Given the description of an element on the screen output the (x, y) to click on. 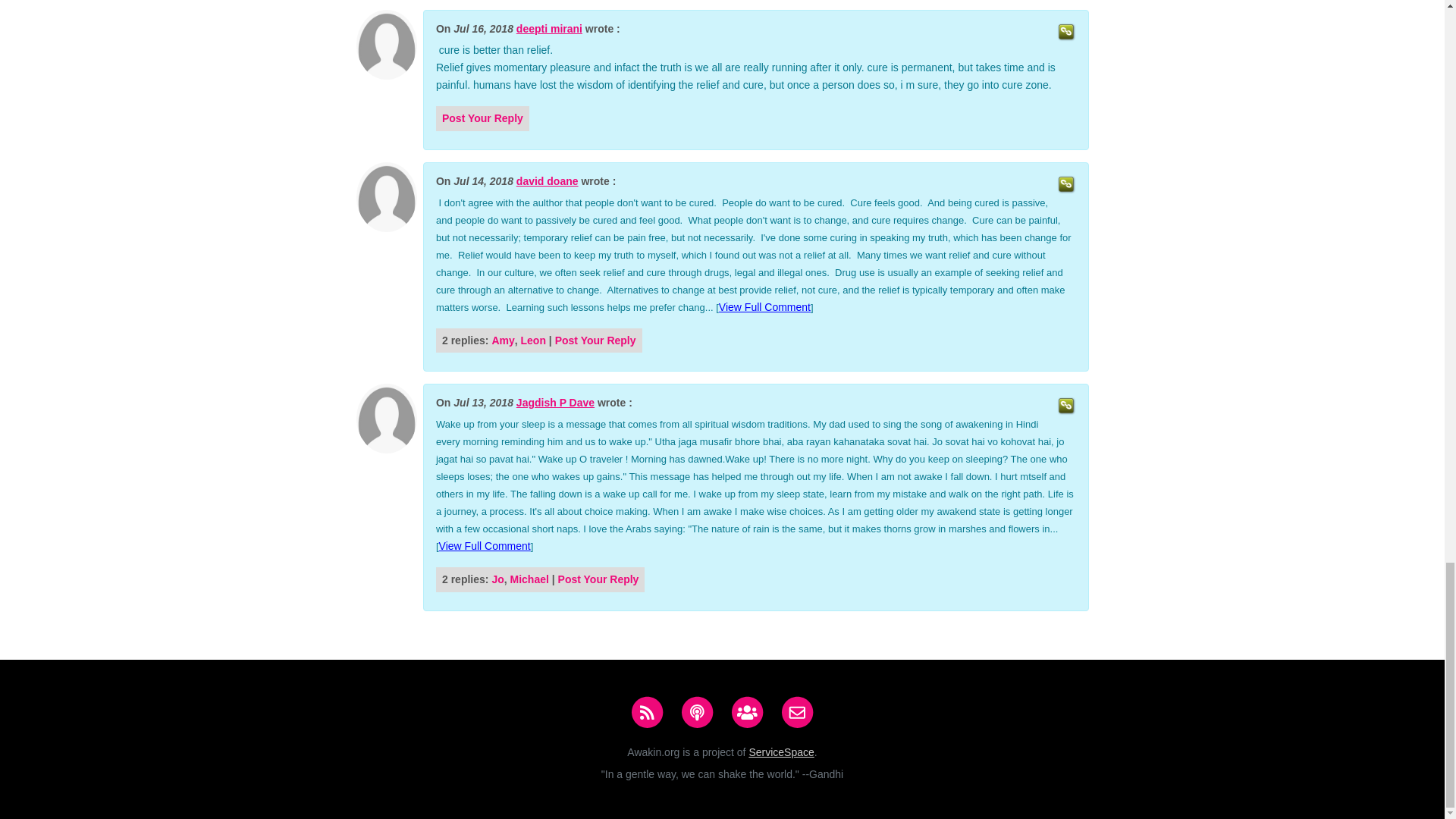
Post Your Reply (595, 340)
View Full Comment (764, 306)
Leon (533, 340)
Amy (502, 340)
david doane (547, 181)
deepti mirani (549, 29)
Post Your Reply (482, 118)
